Given the description of an element on the screen output the (x, y) to click on. 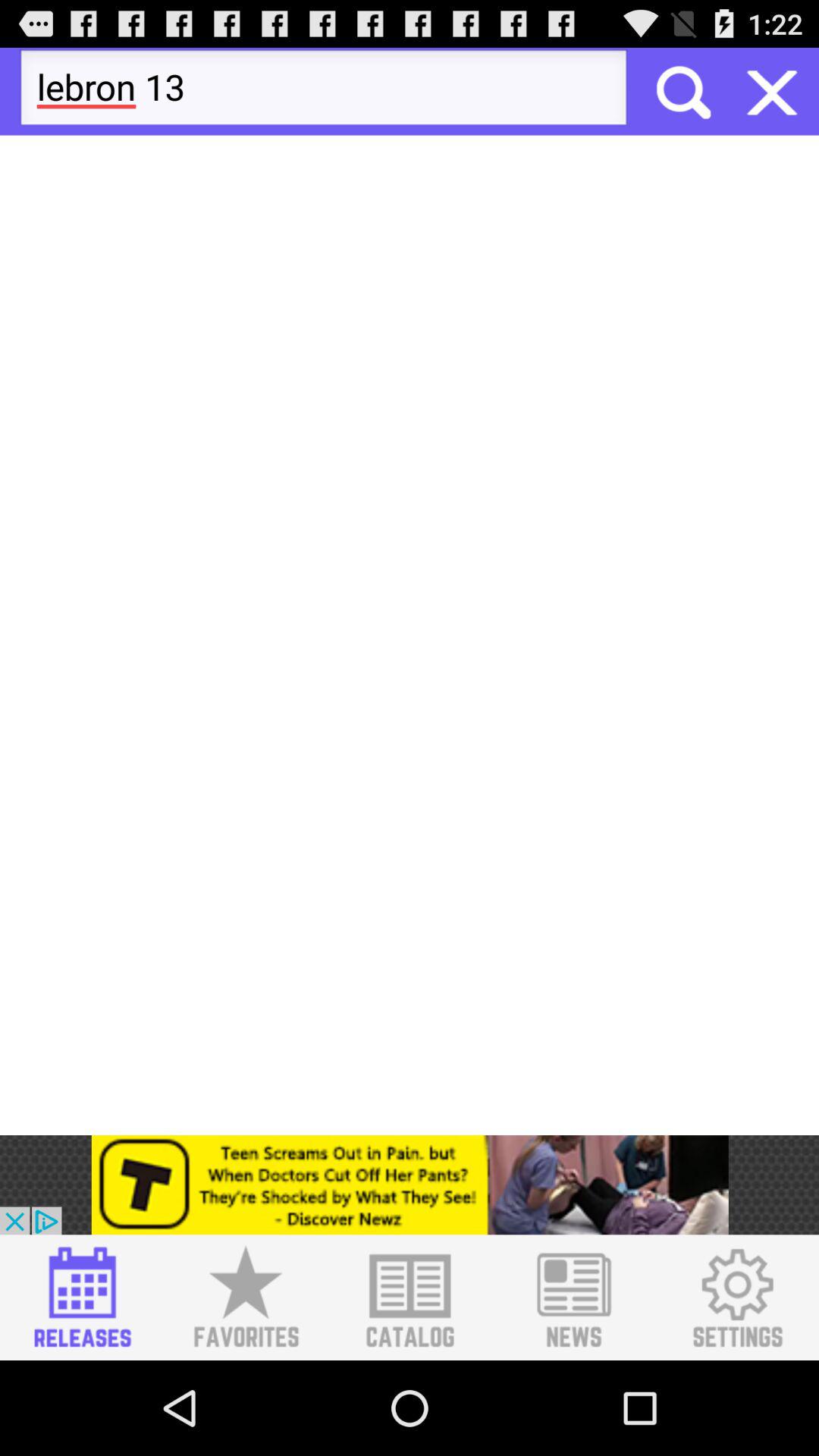
close search (772, 91)
